Given the description of an element on the screen output the (x, y) to click on. 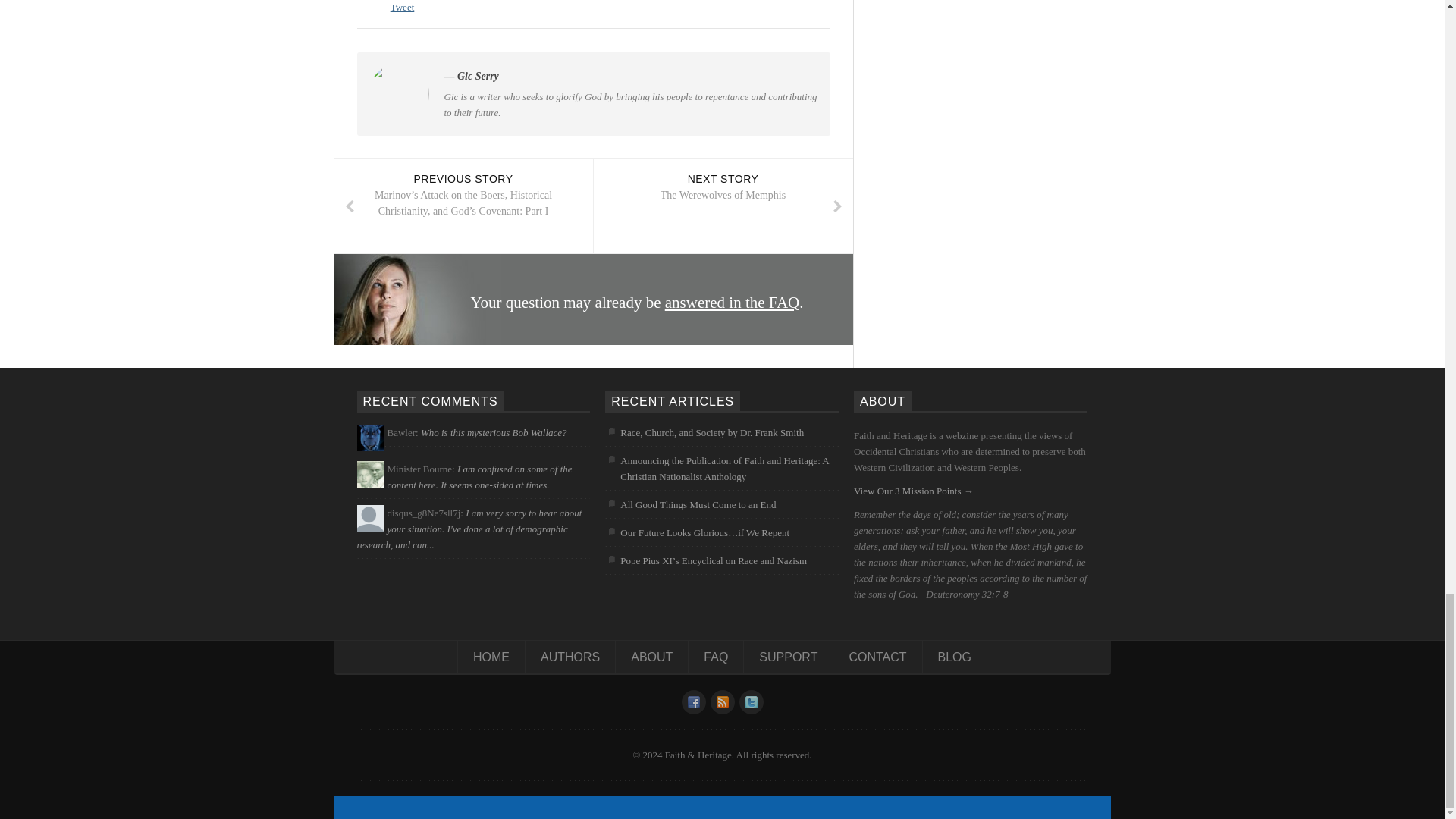
Posted on Great Places for White People to Live (468, 528)
Posted on Finis Dake on Racial Segregation (479, 476)
